Given the description of an element on the screen output the (x, y) to click on. 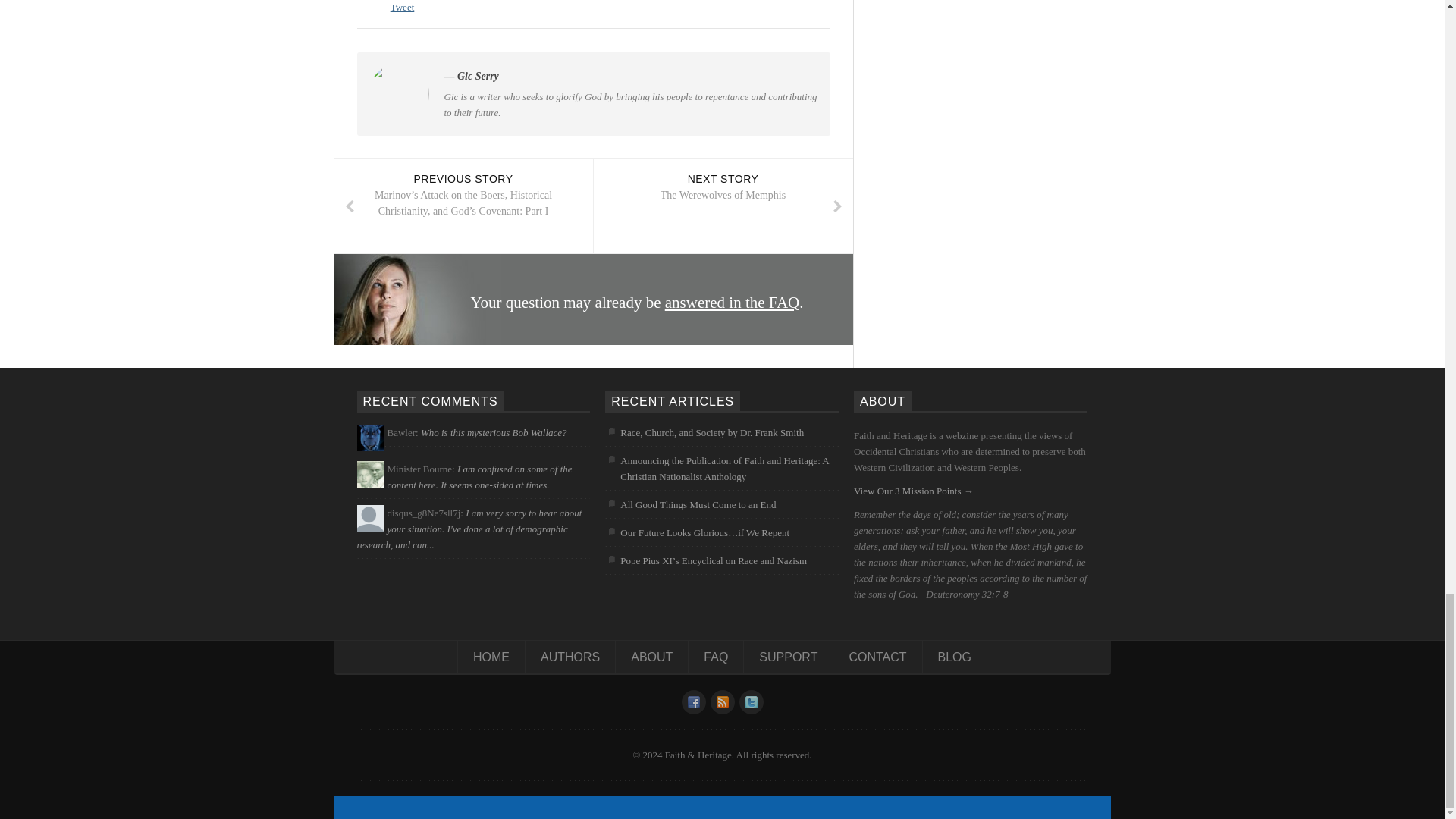
Posted on Great Places for White People to Live (468, 528)
Posted on Finis Dake on Racial Segregation (479, 476)
